Given the description of an element on the screen output the (x, y) to click on. 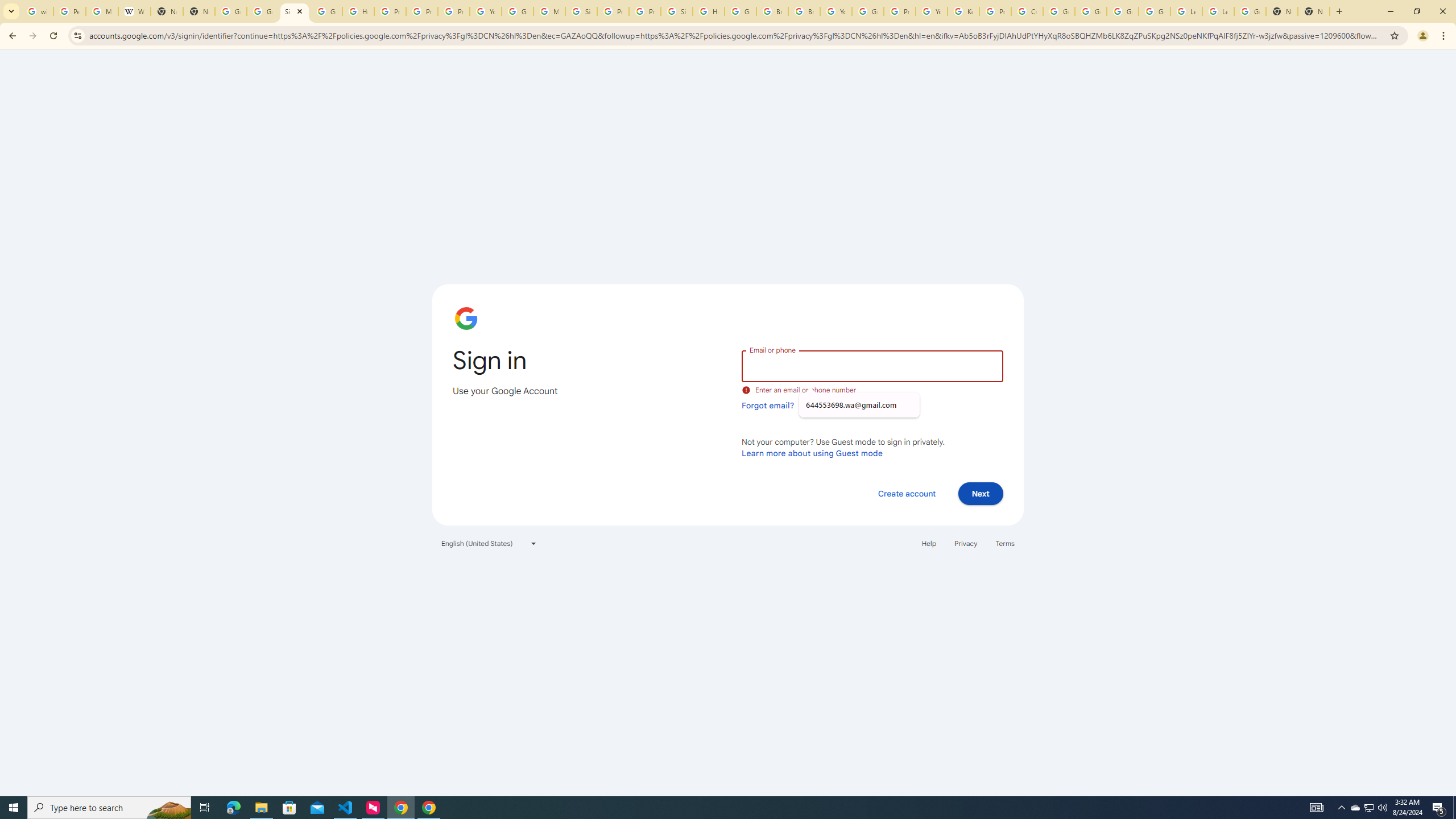
Create account (905, 493)
Google Account Help (1059, 11)
Personalization & Google Search results - Google Search Help (69, 11)
Google Account Help (1154, 11)
Google Account Help (1123, 11)
